Given the description of an element on the screen output the (x, y) to click on. 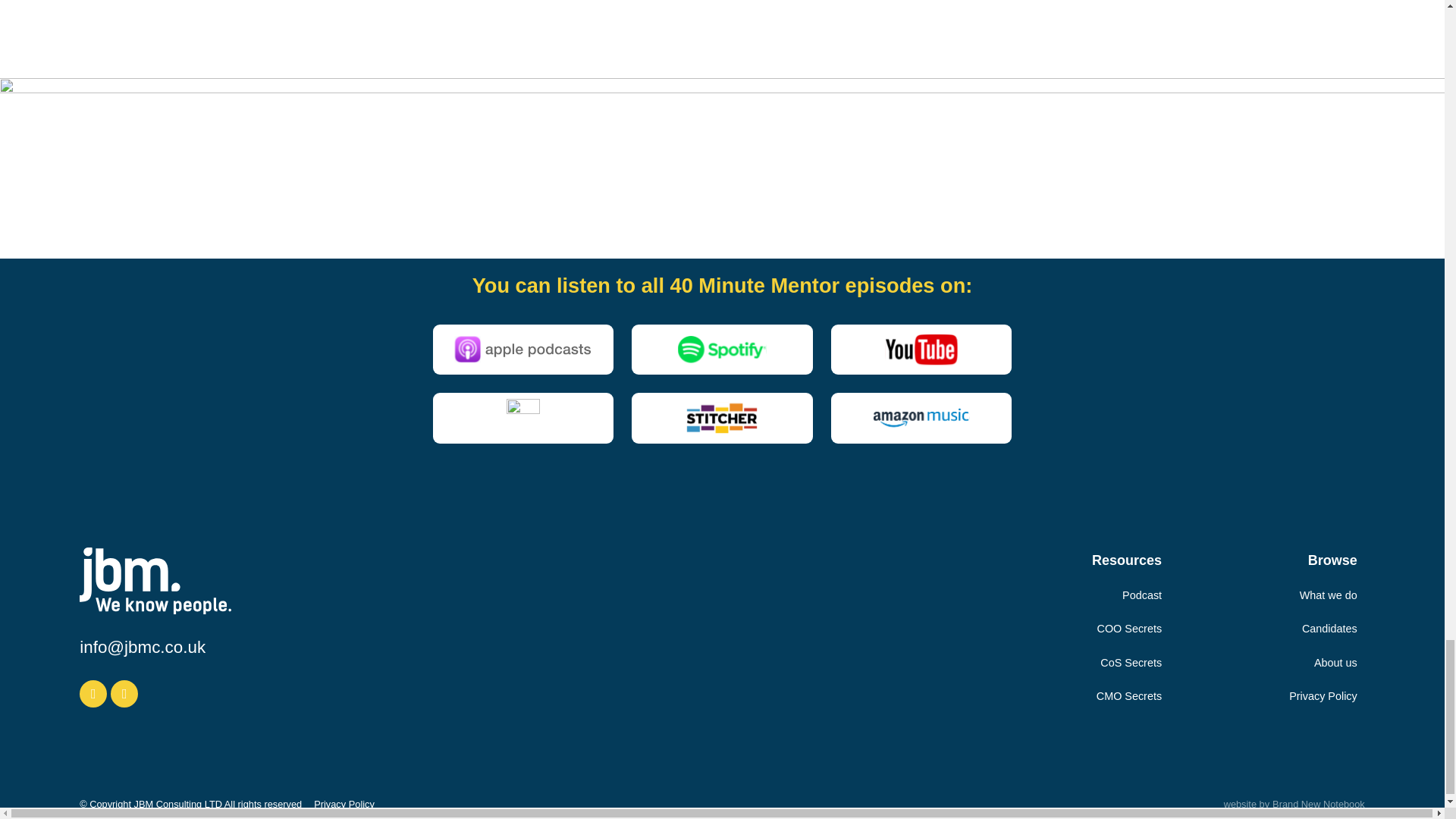
COO Secrets (1129, 628)
Podcast (1141, 594)
CoS Secrets (1130, 662)
CMO Secrets (1128, 695)
What we do (1328, 594)
